Given the description of an element on the screen output the (x, y) to click on. 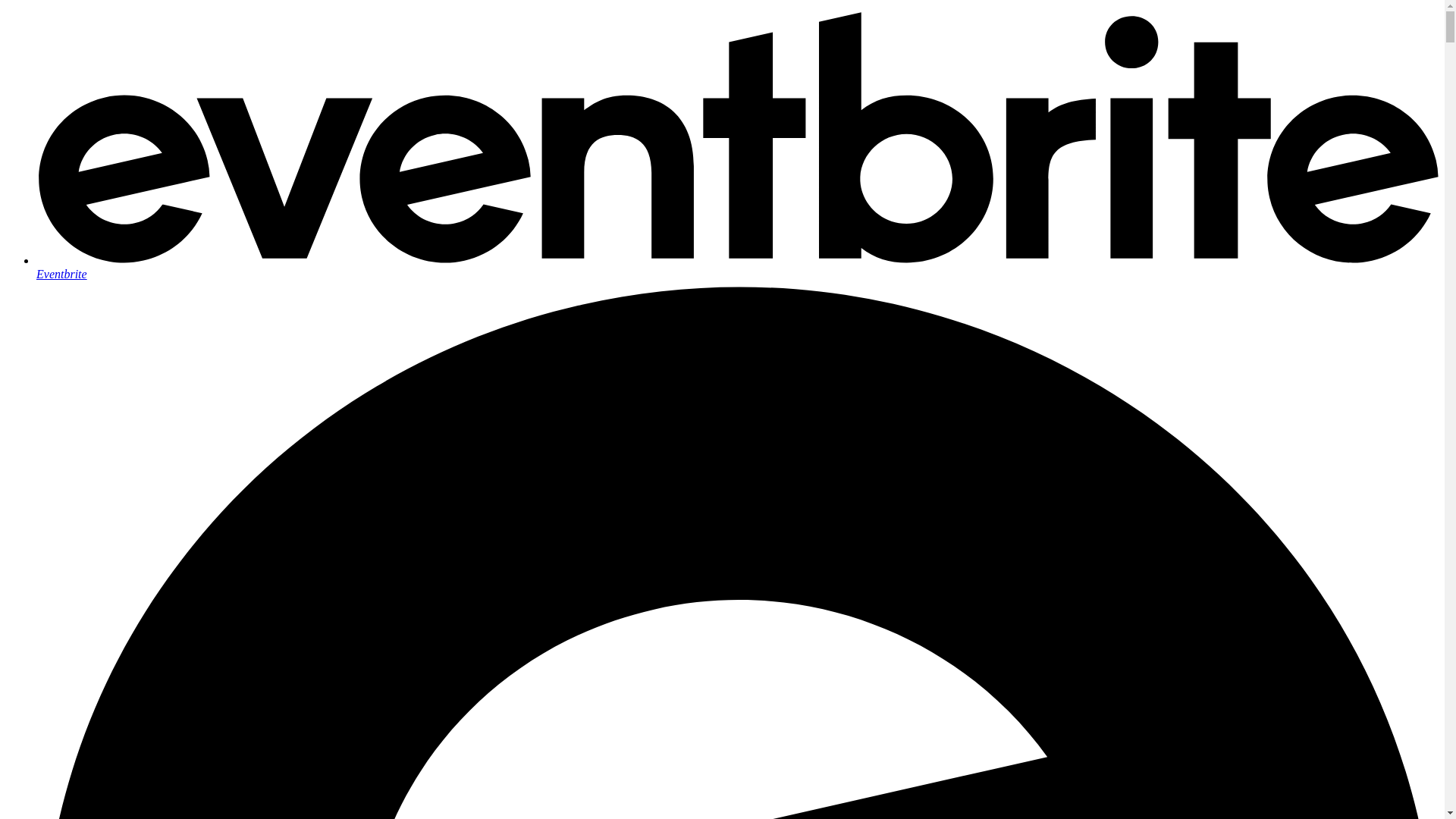
Eventbrite Element type: text (737, 267)
